Given the description of an element on the screen output the (x, y) to click on. 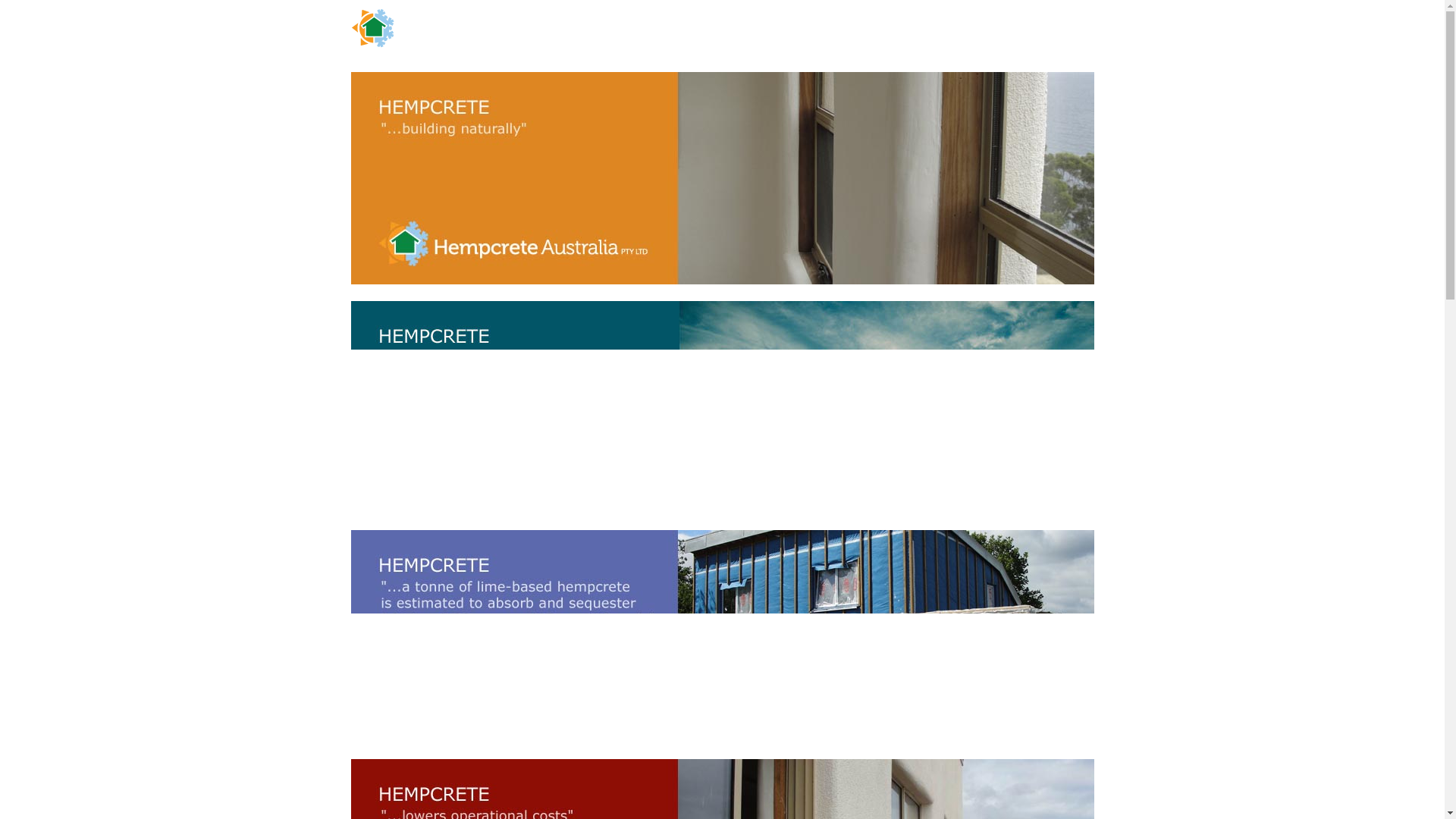
Contact Us (623, 54)
News (930, 33)
Downloads (820, 33)
Products (722, 33)
Sustainability (880, 33)
FAQ (999, 33)
Home (614, 33)
Training (769, 33)
Links (966, 33)
